Given the description of an element on the screen output the (x, y) to click on. 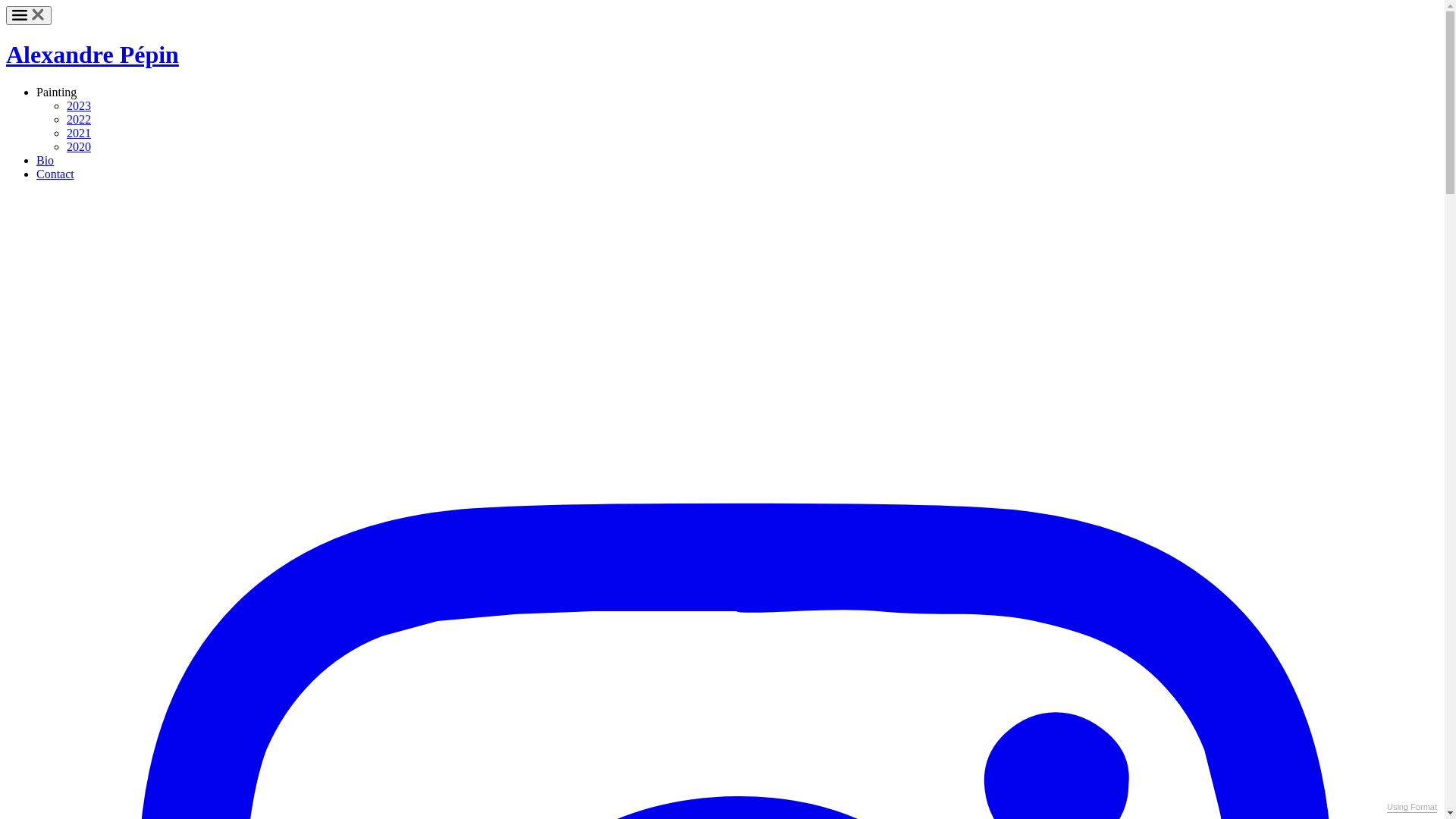
2020 Element type: text (78, 146)
2023 Element type: text (78, 105)
2021 Element type: text (78, 132)
Contact Element type: text (55, 173)
Painting Element type: text (56, 91)
Using Format Element type: text (1411, 807)
Bio Element type: text (44, 159)
2022 Element type: text (78, 118)
